Given the description of an element on the screen output the (x, y) to click on. 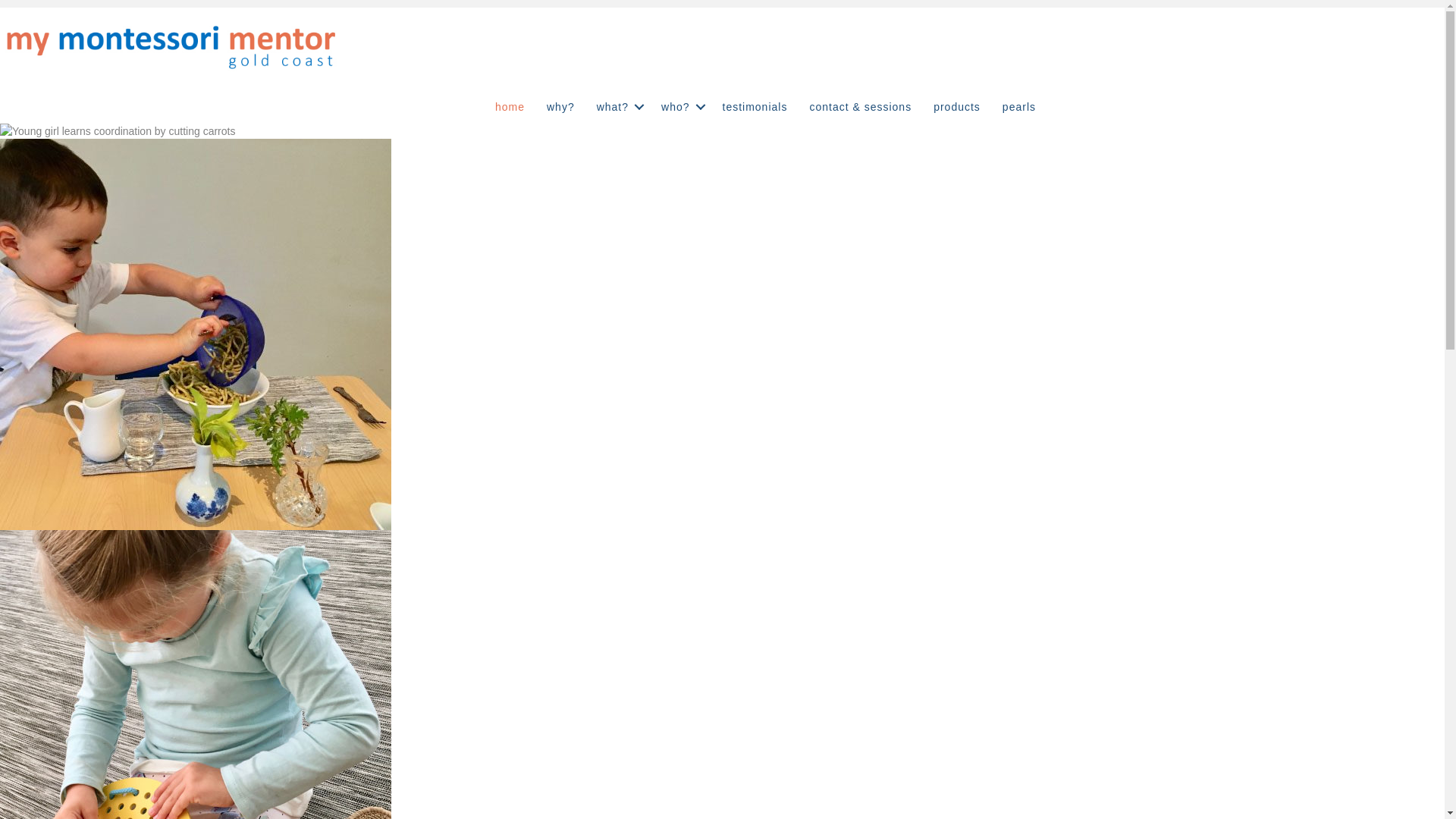
contact & sessions Element type: text (860, 106)
text-logo Element type: hover (170, 41)
who? Element type: text (680, 106)
home01 Element type: hover (117, 130)
what? Element type: text (617, 106)
why? Element type: text (560, 106)
products Element type: text (956, 106)
pearls Element type: text (1018, 106)
home02 Element type: hover (195, 334)
home Element type: text (509, 106)
testimonials Element type: text (754, 106)
